Given the description of an element on the screen output the (x, y) to click on. 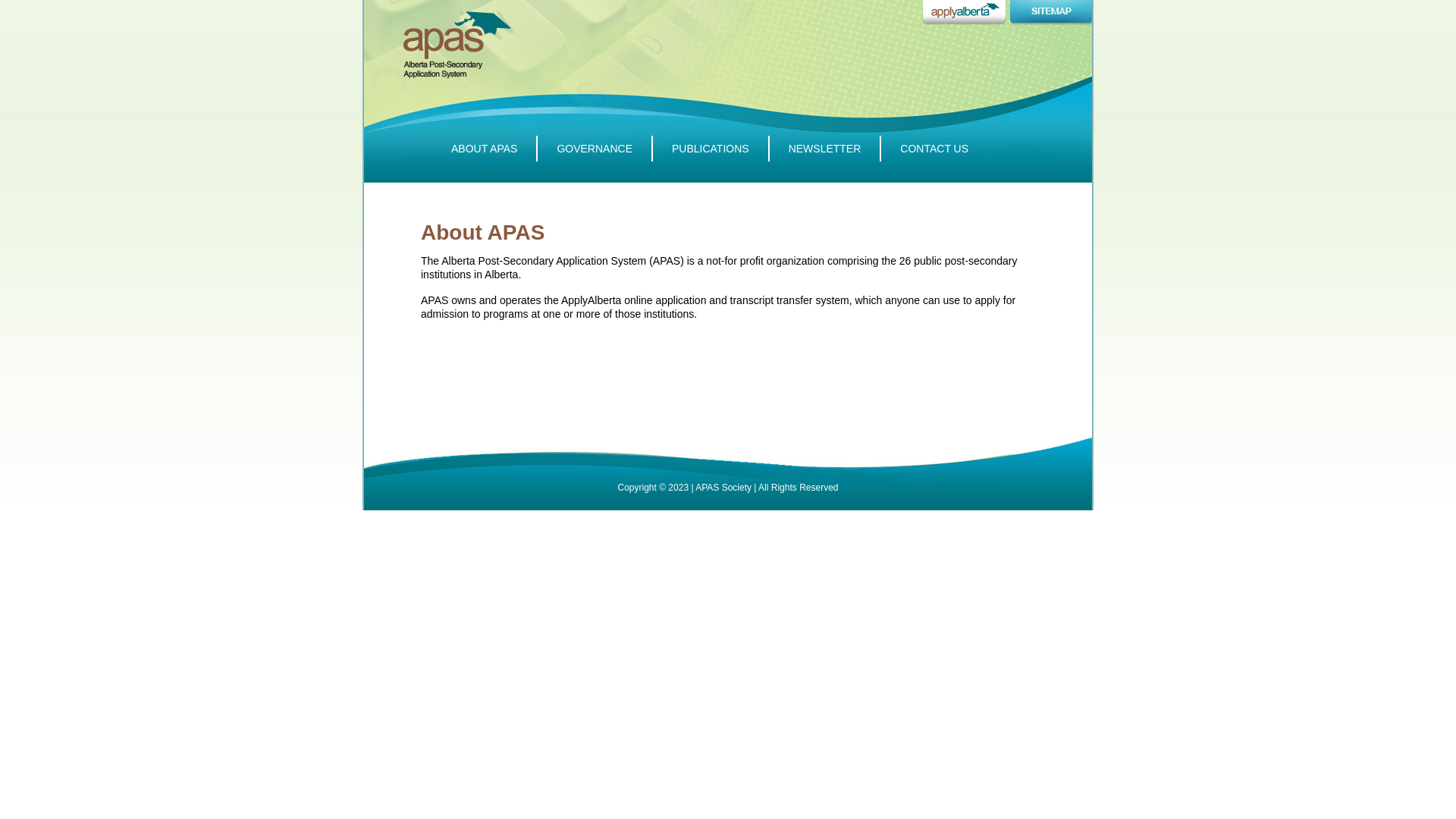
Sitemap Element type: text (1051, 12)
NEWSLETTER Element type: text (825, 148)
CONTACT US Element type: text (934, 148)
GOVERNANCE Element type: text (594, 148)
PUBLICATIONS Element type: text (710, 148)
ABOUT APAS Element type: text (484, 148)
Apply Alberta Element type: text (964, 12)
